Given the description of an element on the screen output the (x, y) to click on. 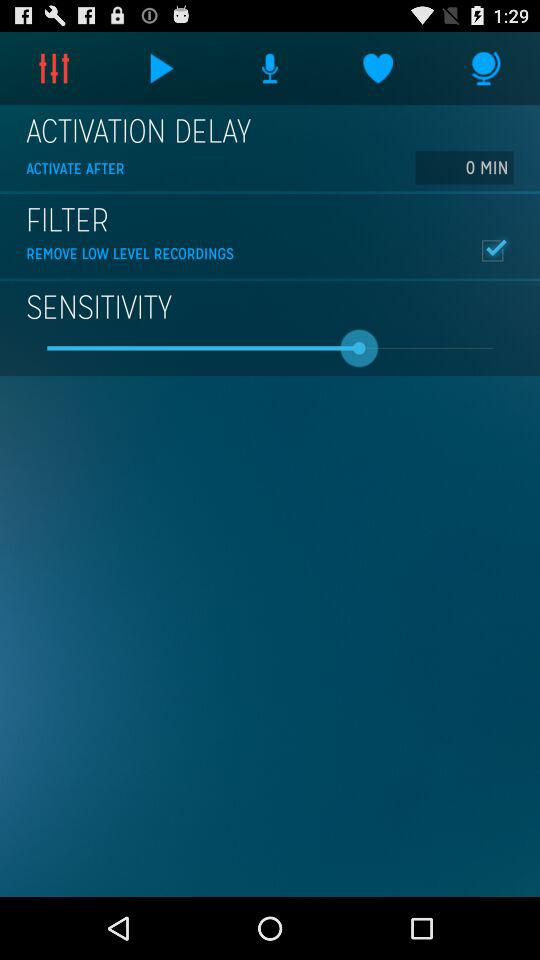
press item next to the remove low level icon (492, 250)
